Given the description of an element on the screen output the (x, y) to click on. 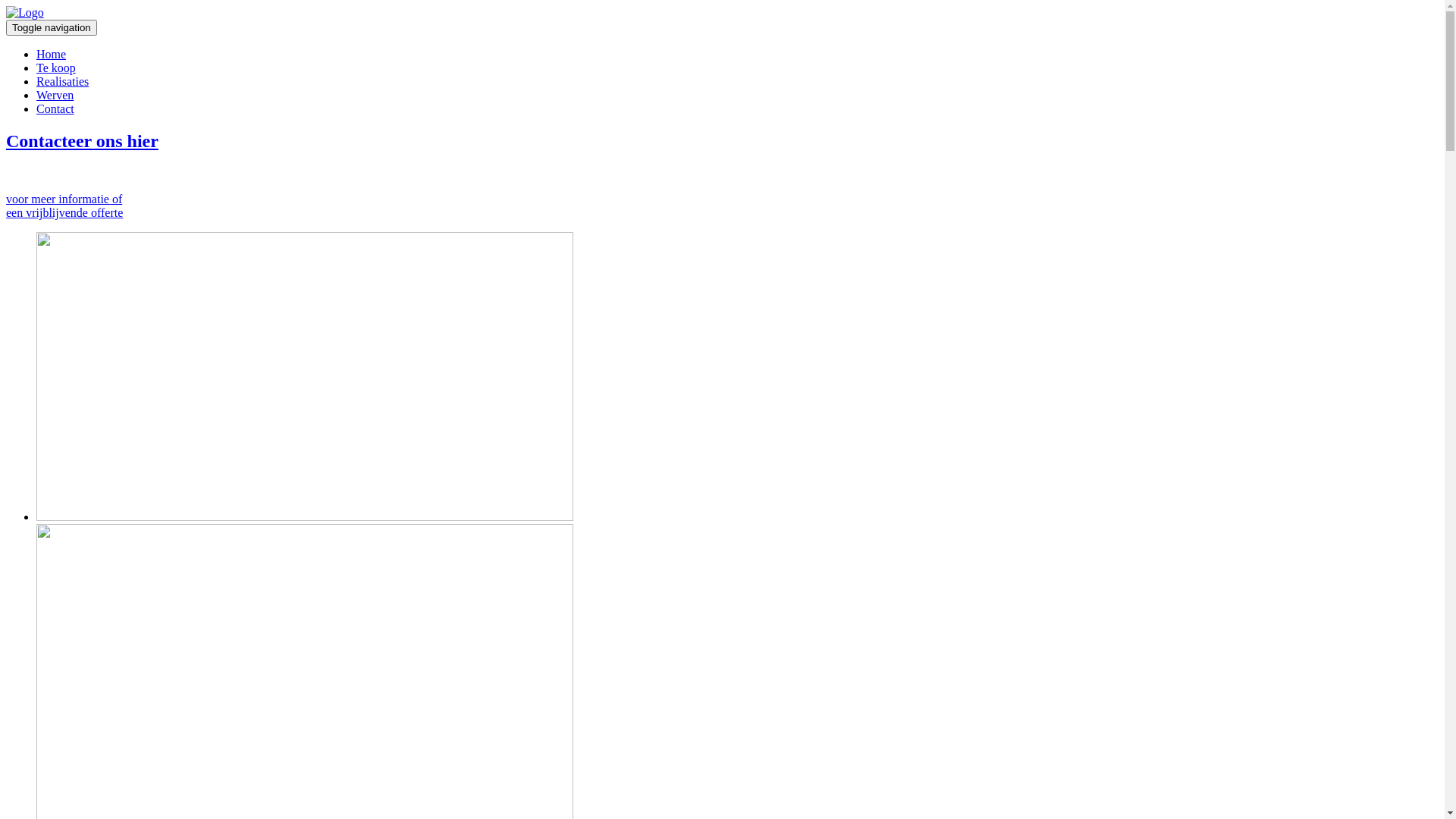
Home Element type: text (50, 53)
Realisaties Element type: text (62, 81)
Contact Element type: text (55, 108)
Werven Element type: text (54, 94)
Te koop Element type: text (55, 67)
Toggle navigation Element type: text (51, 27)
